Given the description of an element on the screen output the (x, y) to click on. 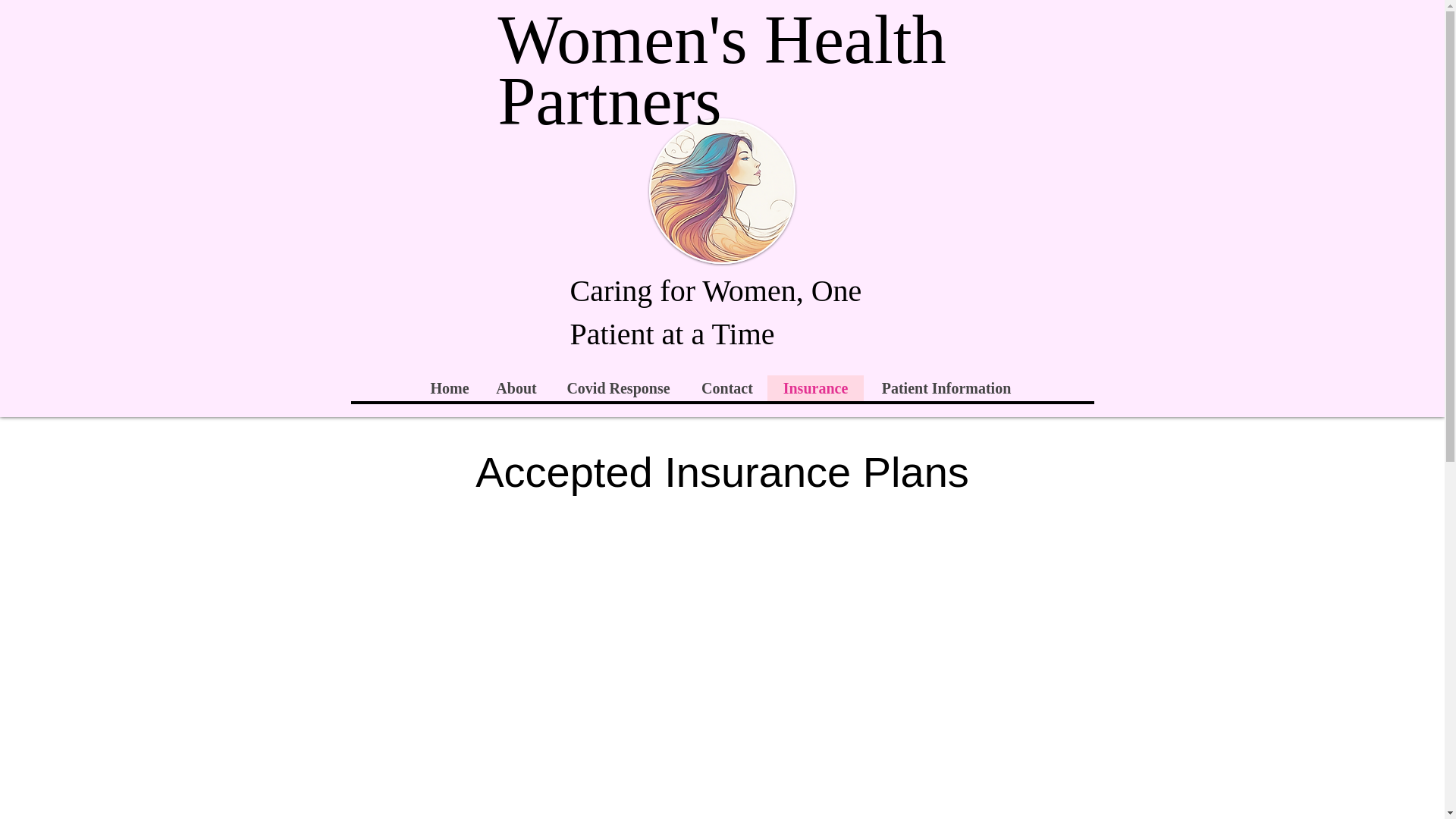
Covid Response (616, 388)
Insurance (815, 388)
Contact (727, 388)
Home (447, 388)
About (514, 388)
Patient Information (945, 388)
